Given the description of an element on the screen output the (x, y) to click on. 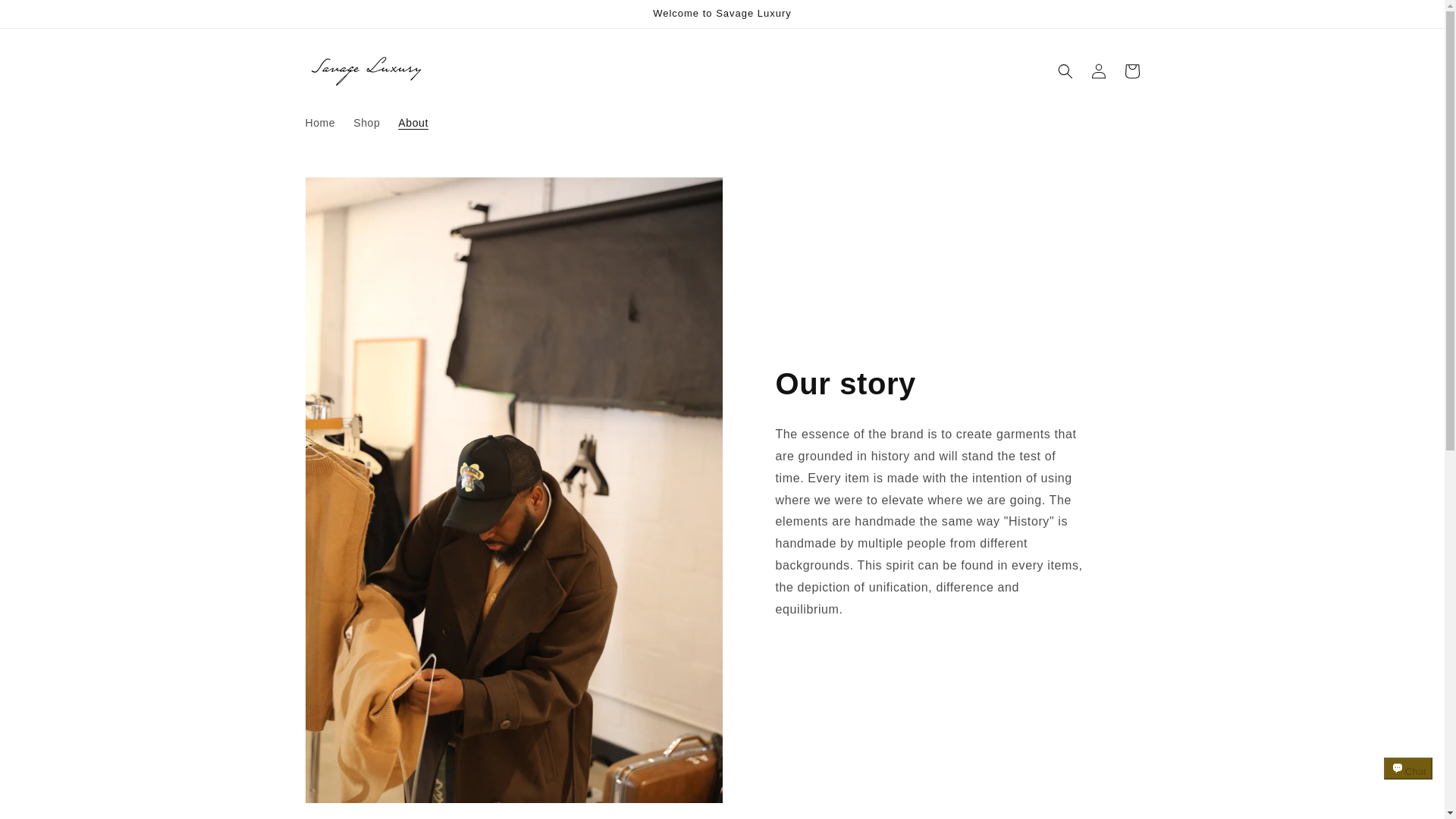
Cart (1131, 70)
About (413, 122)
Log in (1098, 70)
Home (319, 122)
Shop (365, 122)
Skip to content (45, 16)
Shopify online store chat (1408, 781)
